Given the description of an element on the screen output the (x, y) to click on. 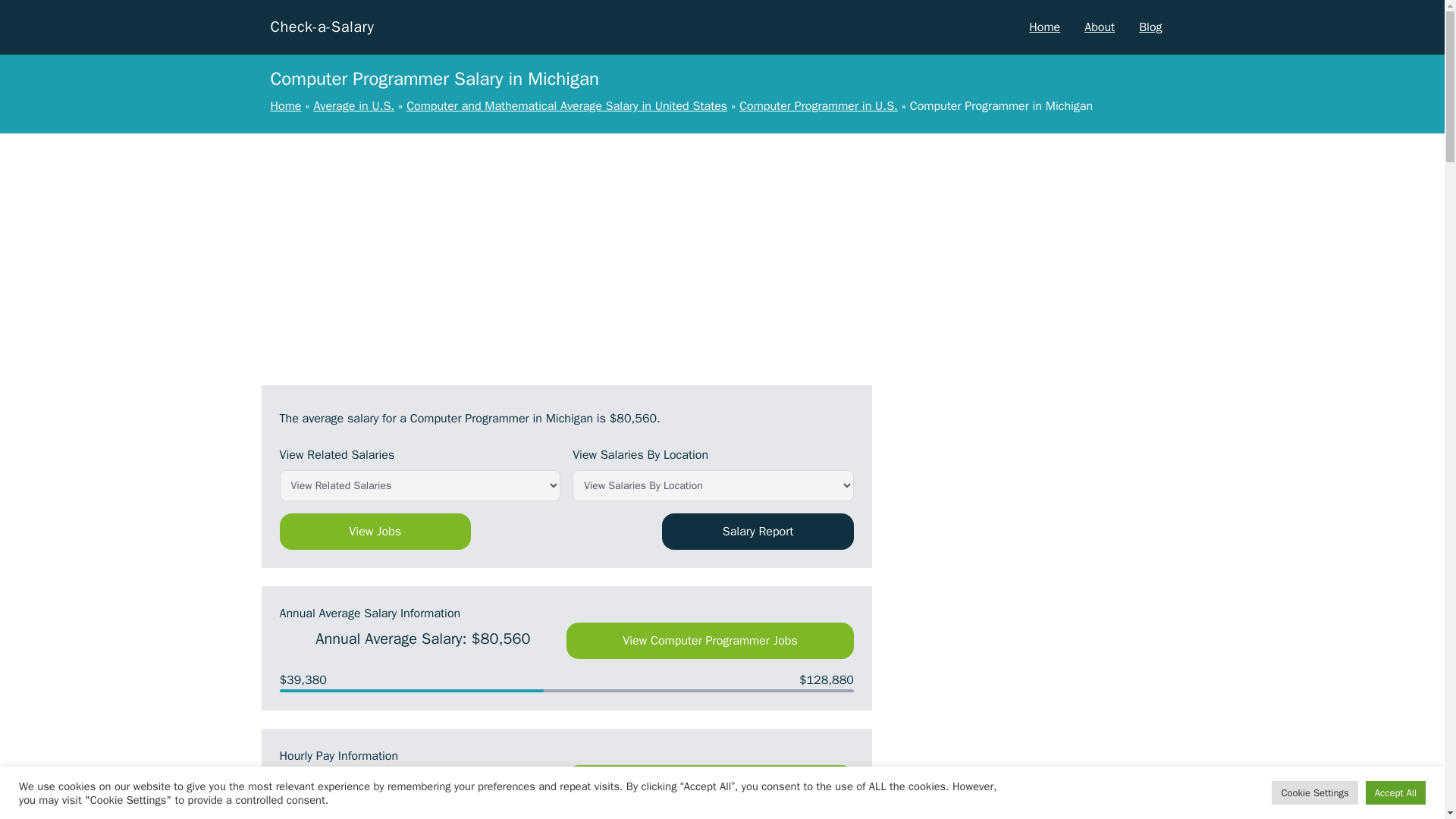
View Computer Programmer Jobs (709, 640)
Browse Salaries (709, 782)
Salary Report (757, 531)
Average in U.S. (353, 105)
Home (1044, 27)
Home (285, 105)
About (1099, 27)
Computer Programmer in U.S. (818, 105)
View Jobs (374, 531)
Blog (1149, 27)
Check-a-Salary (321, 26)
View Jobs (374, 531)
Computer and Mathematical Average Salary in United States (566, 105)
